Given the description of an element on the screen output the (x, y) to click on. 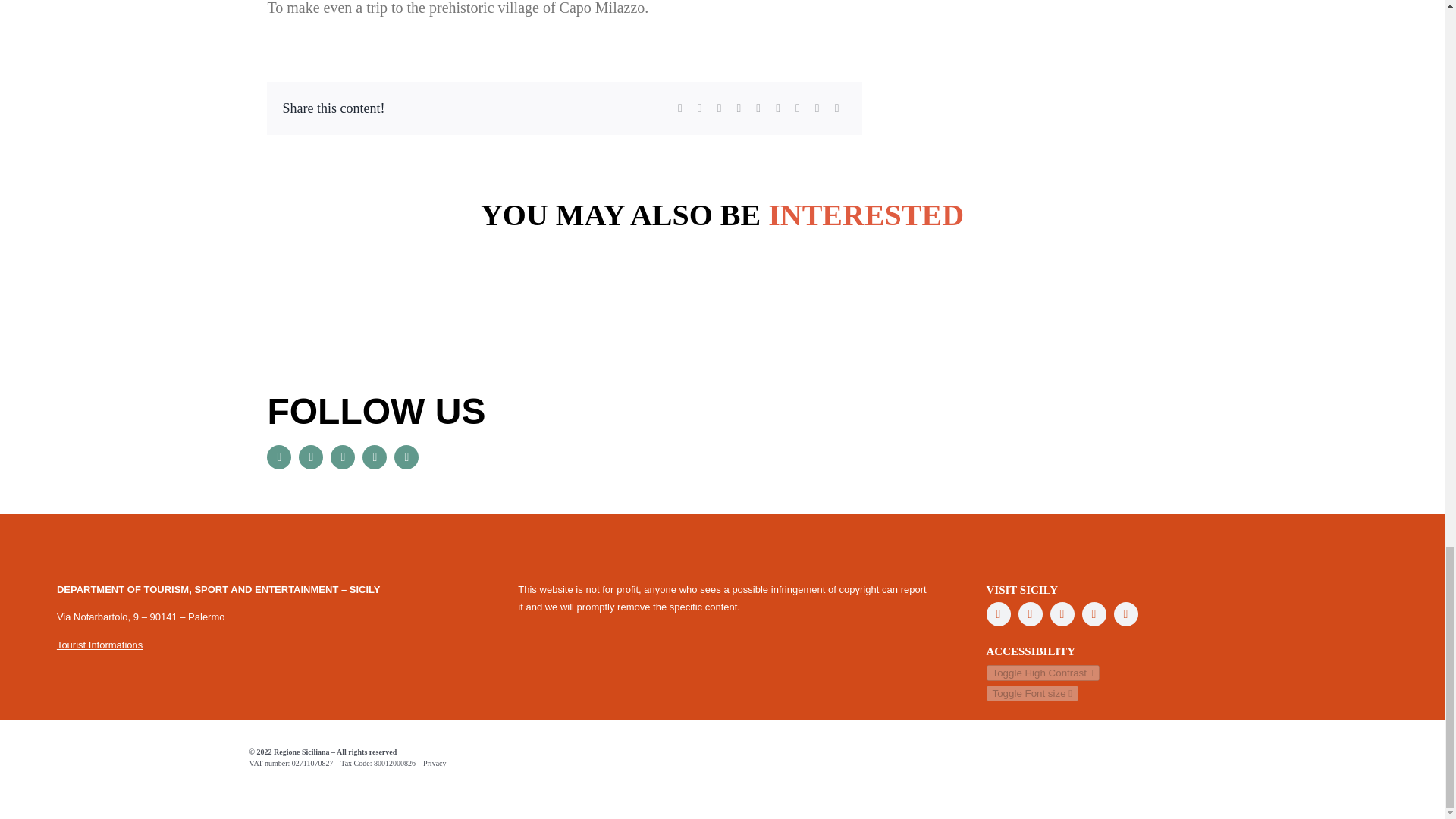
Instagram (1093, 613)
Pinterest (1125, 613)
Instagram (374, 457)
Facebook (278, 457)
YOU MAY ALSO BE INTERESTED (721, 238)
YouTube (1061, 613)
YouTube (342, 457)
Facebook (998, 613)
X (1029, 613)
X (310, 457)
